Given the description of an element on the screen output the (x, y) to click on. 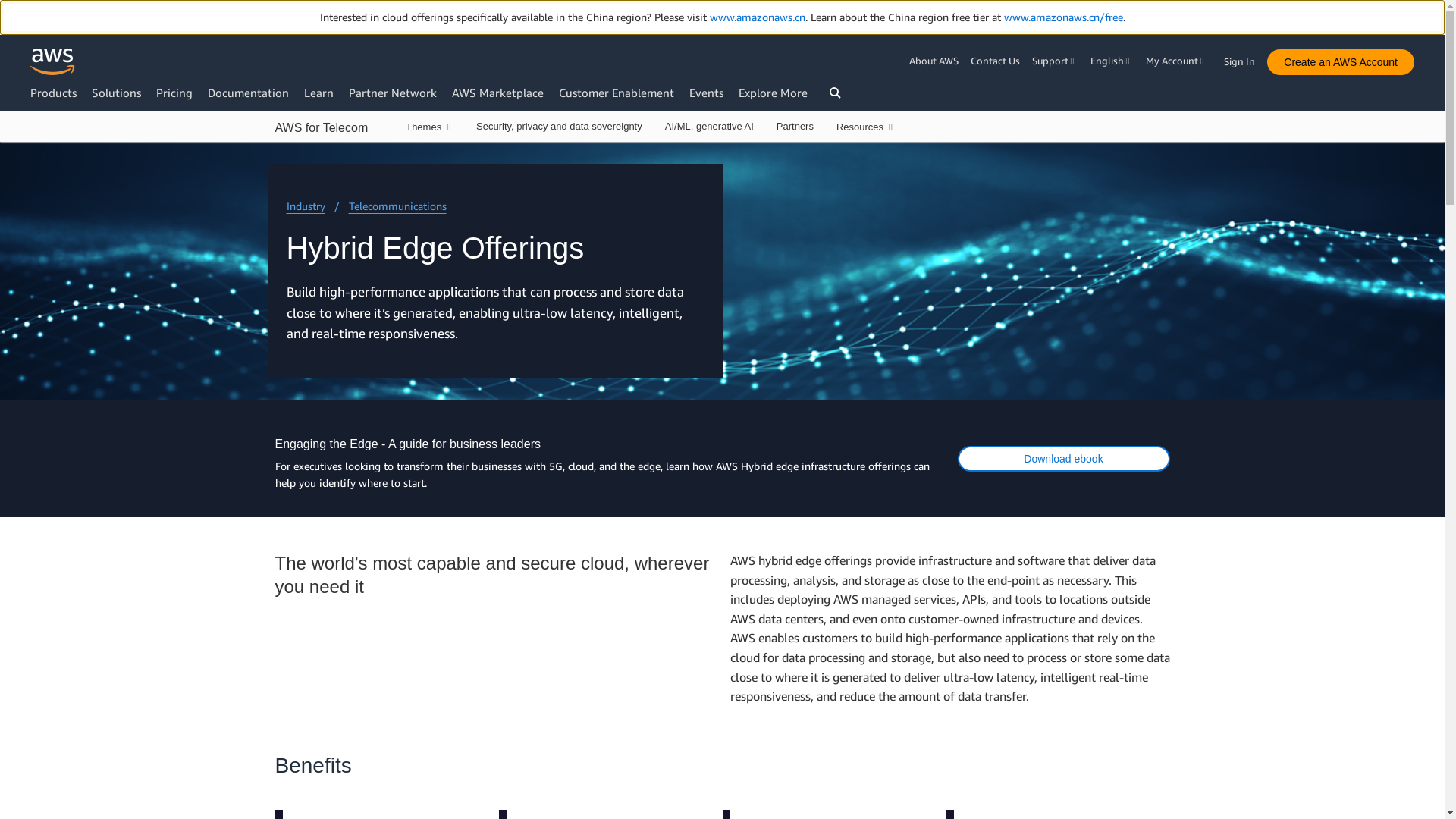
Products (53, 92)
Customer Enablement (616, 92)
Sign In (1244, 58)
Create an AWS Account (1339, 62)
About AWS (935, 60)
My Account  (1177, 60)
Support  (1055, 60)
Explore More (773, 92)
Learn (318, 92)
Skip to main content (7, 147)
Solutions (116, 92)
www.amazonaws.cn (757, 16)
Documentation (248, 92)
AWS Marketplace (497, 92)
Contact Us (994, 60)
